Given the description of an element on the screen output the (x, y) to click on. 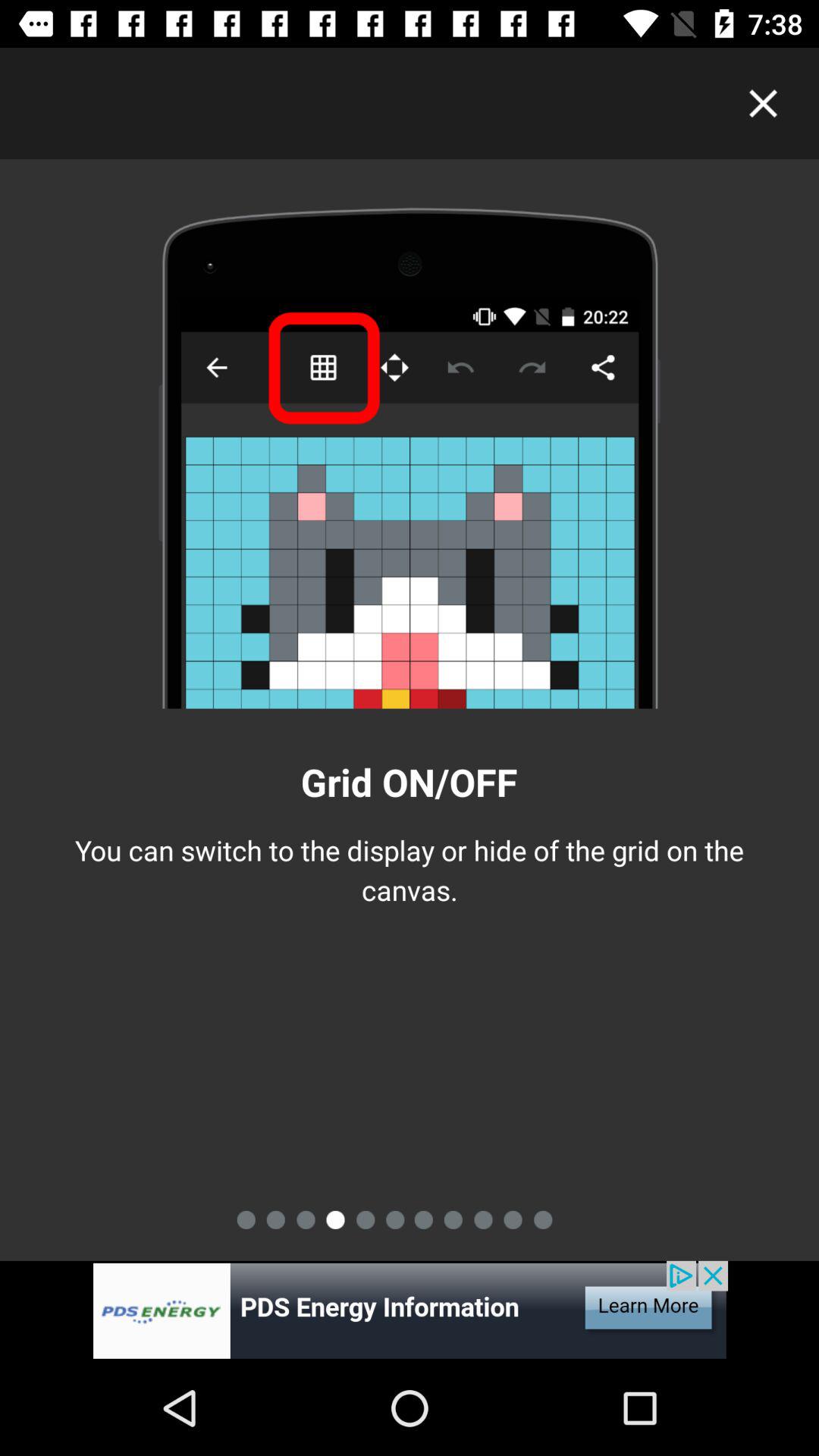
close button (763, 103)
